Given the description of an element on the screen output the (x, y) to click on. 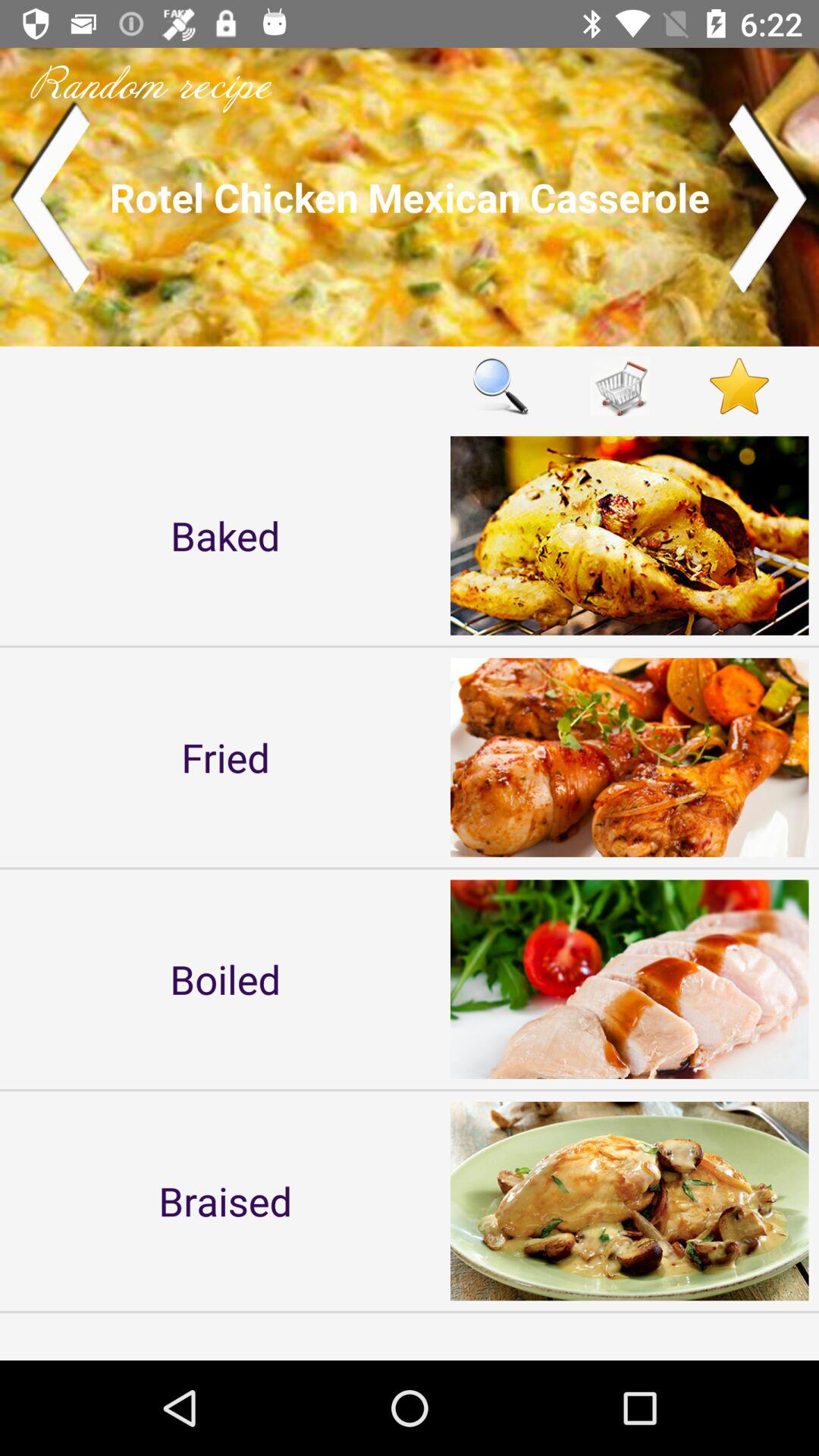
launch item below boiled (225, 1200)
